Given the description of an element on the screen output the (x, y) to click on. 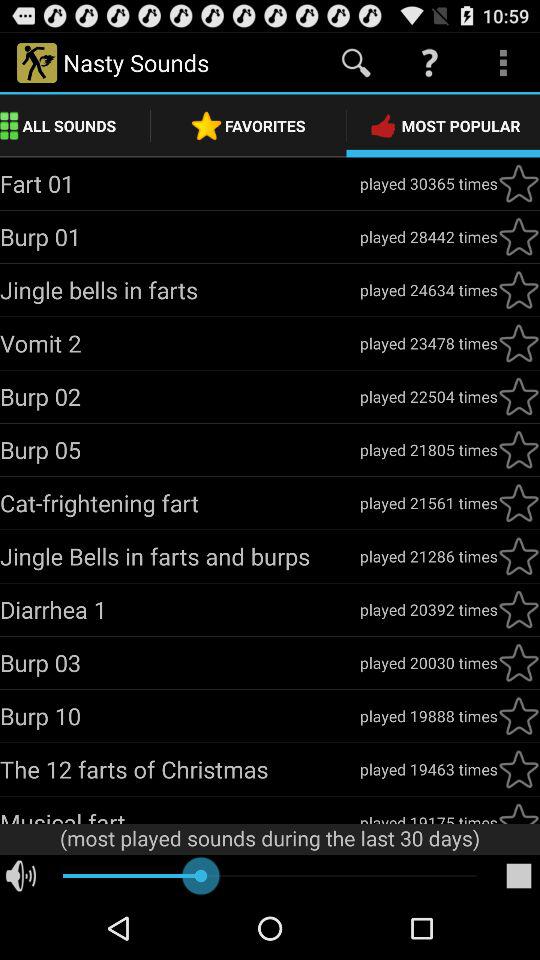
choose item to the left of the played 23478 times icon (180, 343)
